Given the description of an element on the screen output the (x, y) to click on. 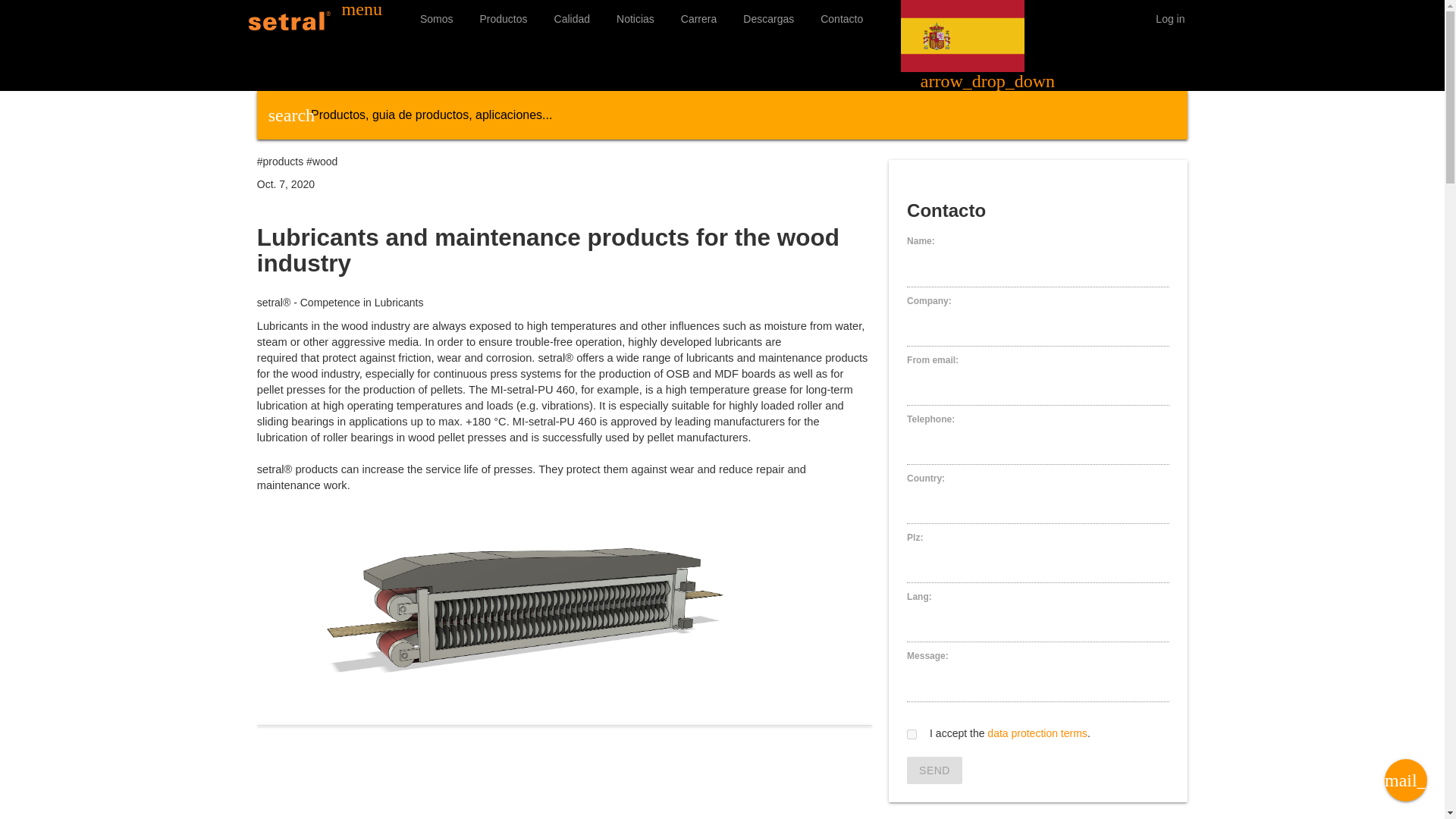
Somos (436, 18)
Carrera (698, 18)
Descargas (768, 18)
Noticias (635, 18)
Calidad (572, 18)
Log in (1169, 18)
Productos (502, 18)
Contacto (842, 18)
menu (361, 10)
SEND (934, 769)
data protection terms (1037, 733)
on (912, 734)
